Given the description of an element on the screen output the (x, y) to click on. 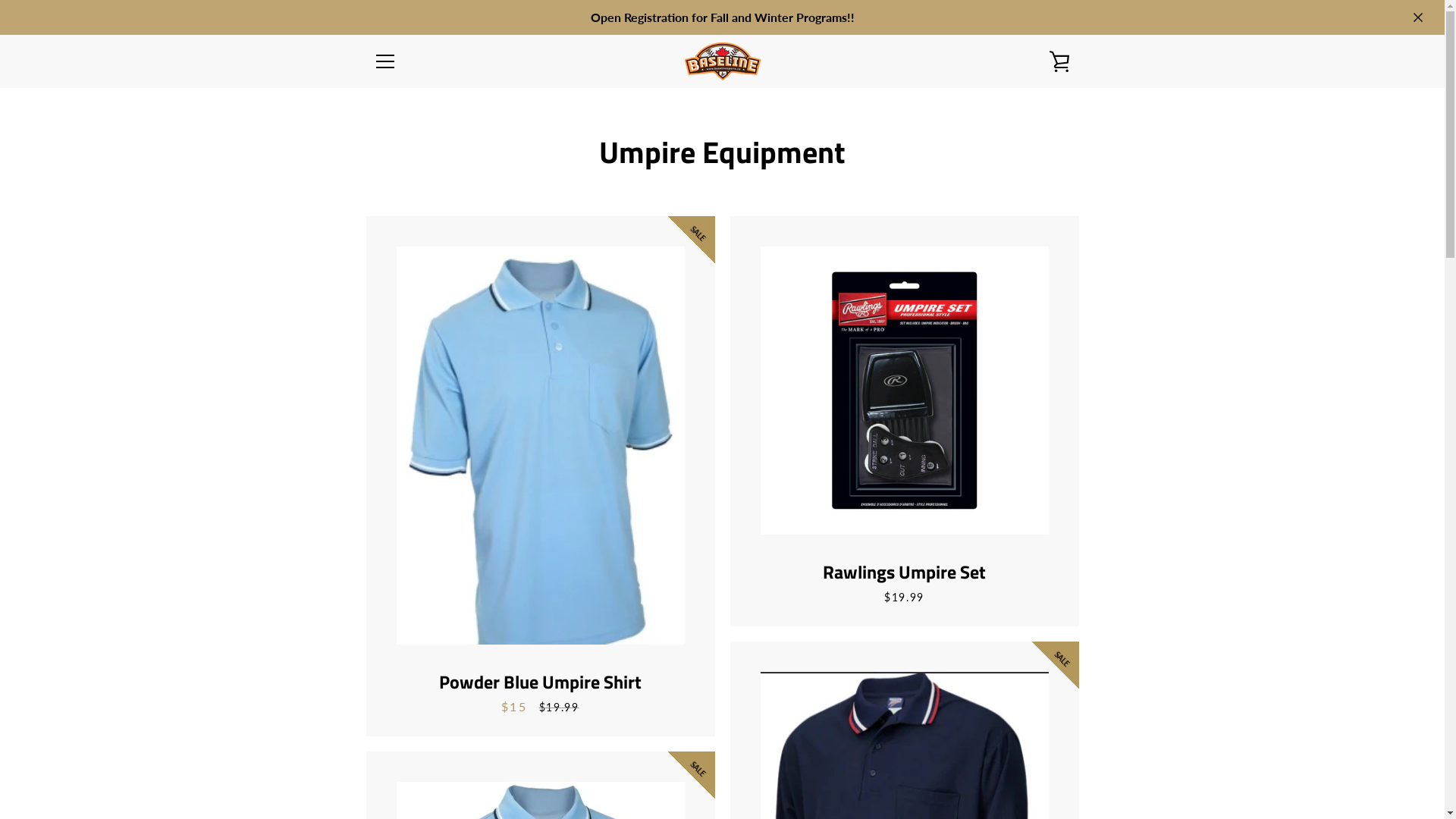
VIEW CART Element type: text (1059, 61)
Instagram Element type: text (424, 765)
BLOG Element type: text (387, 696)
Open Registration for Fall and Winter Programs!! Element type: text (722, 17)
CONTACT US Element type: text (405, 674)
Rawlings Umpire Set
$19.99 Element type: text (903, 421)
Facebook Element type: text (372, 765)
SUBSCRIBE Element type: text (1032, 677)
Twitter Element type: text (398, 765)
STAFF Element type: text (388, 630)
FACILITY Element type: text (395, 652)
Powered by Shopify Element type: text (766, 766)
Skip to content Element type: text (0, 0)
MENU Element type: text (384, 61)
SEARCH Element type: text (393, 607)
Baseline Sports Element type: text (736, 756)
